Given the description of an element on the screen output the (x, y) to click on. 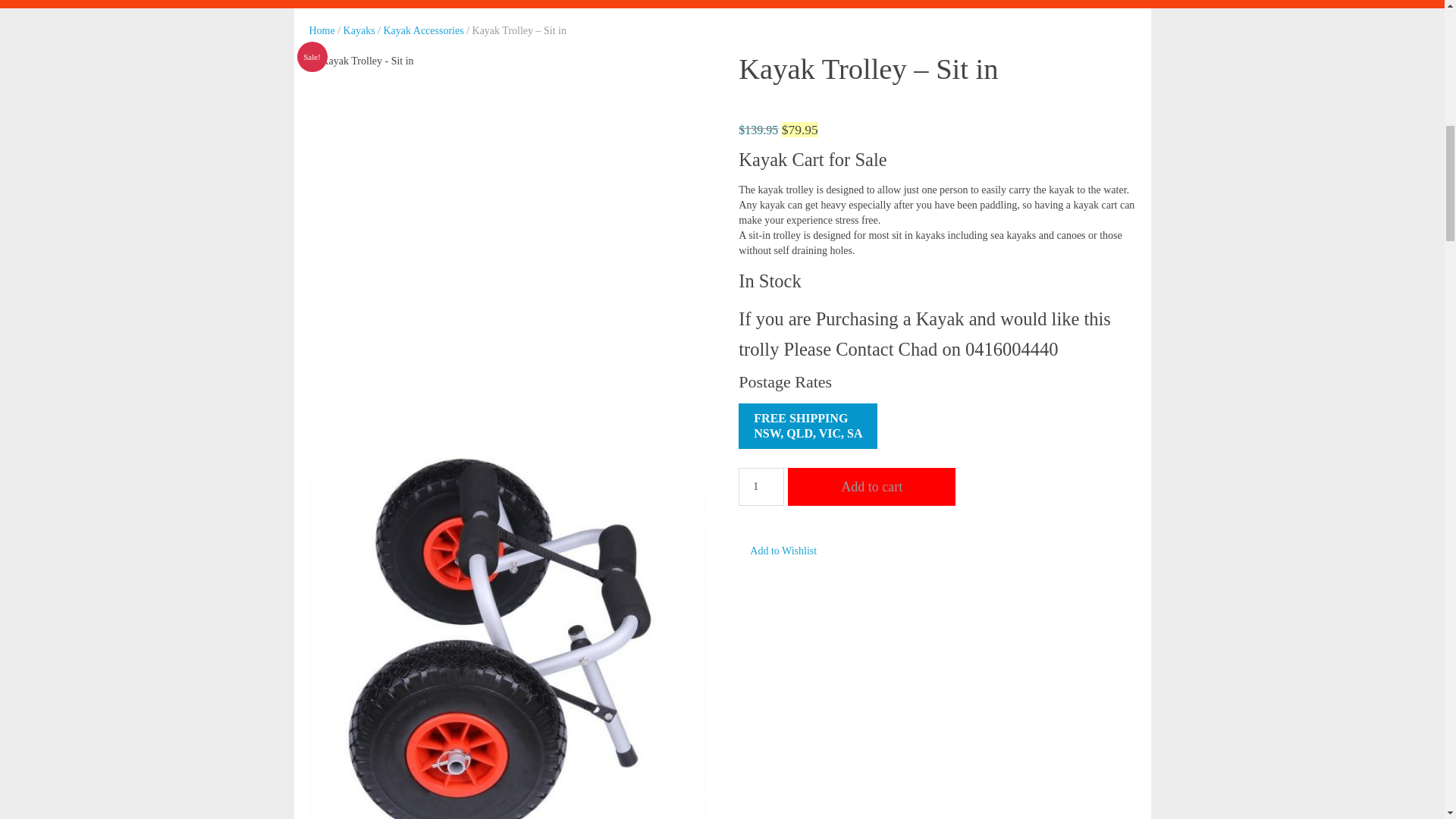
Kayak Accessories (424, 30)
Home (321, 30)
Kayaks (359, 30)
1 (761, 486)
Add to cart (807, 425)
Add to Wishlist (871, 486)
Kayak Trolley - Sit in (782, 550)
